Given the description of an element on the screen output the (x, y) to click on. 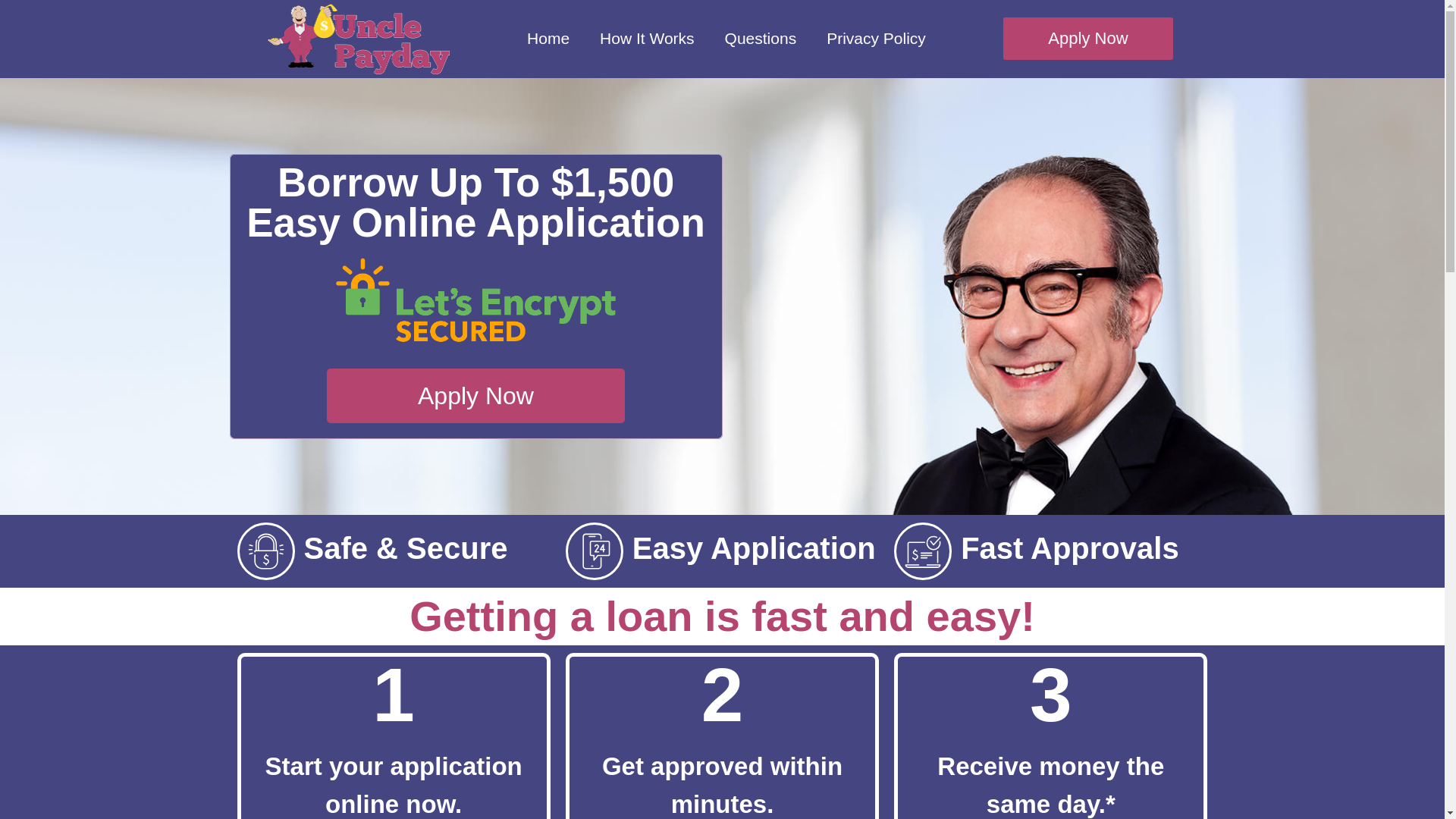
Home (548, 38)
Privacy Policy (875, 38)
How It Works (647, 38)
Apply Now (475, 395)
Questions (761, 38)
Apply Now (1087, 38)
